Given the description of an element on the screen output the (x, y) to click on. 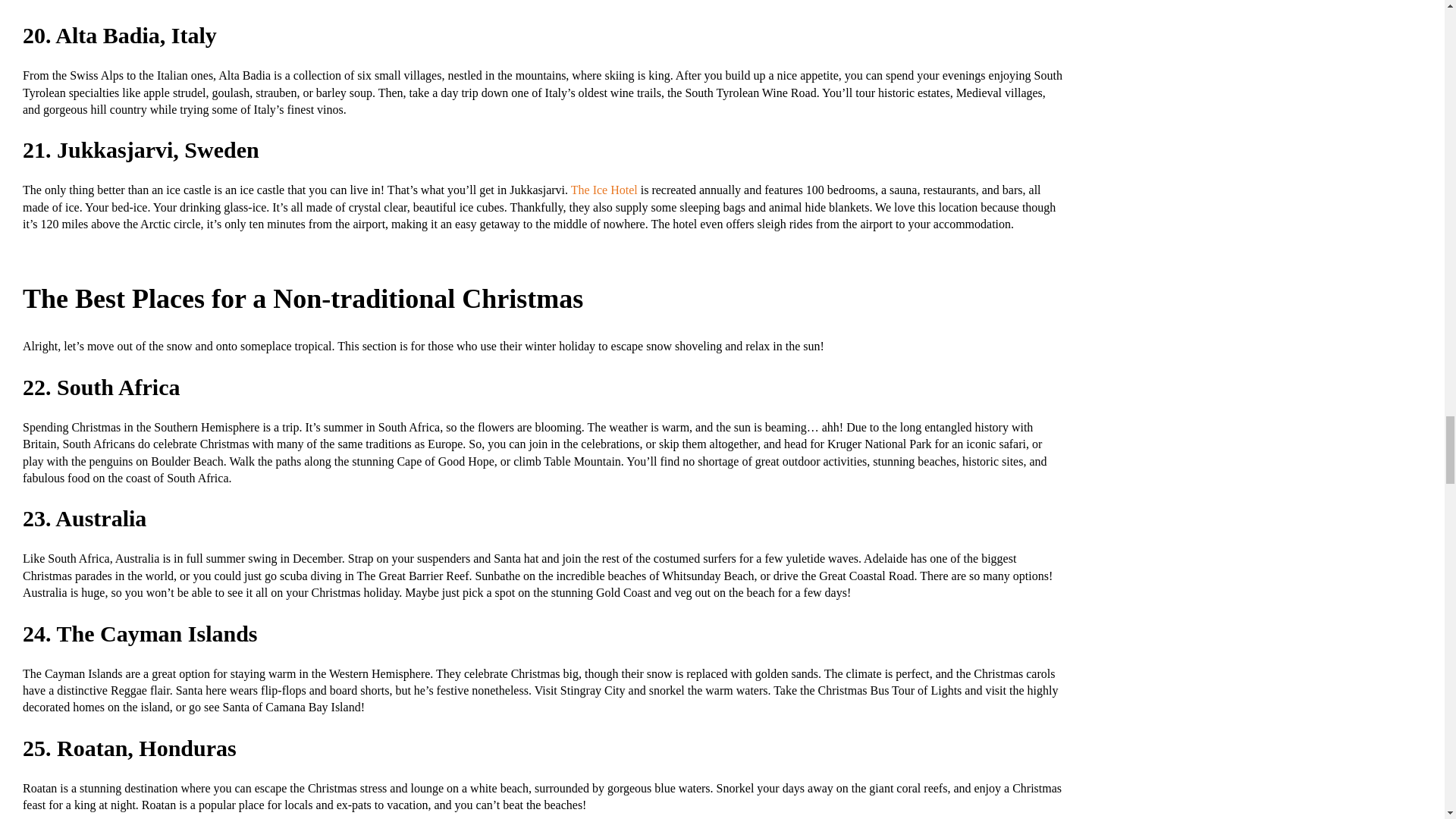
The Ice Hotel (603, 189)
